Given the description of an element on the screen output the (x, y) to click on. 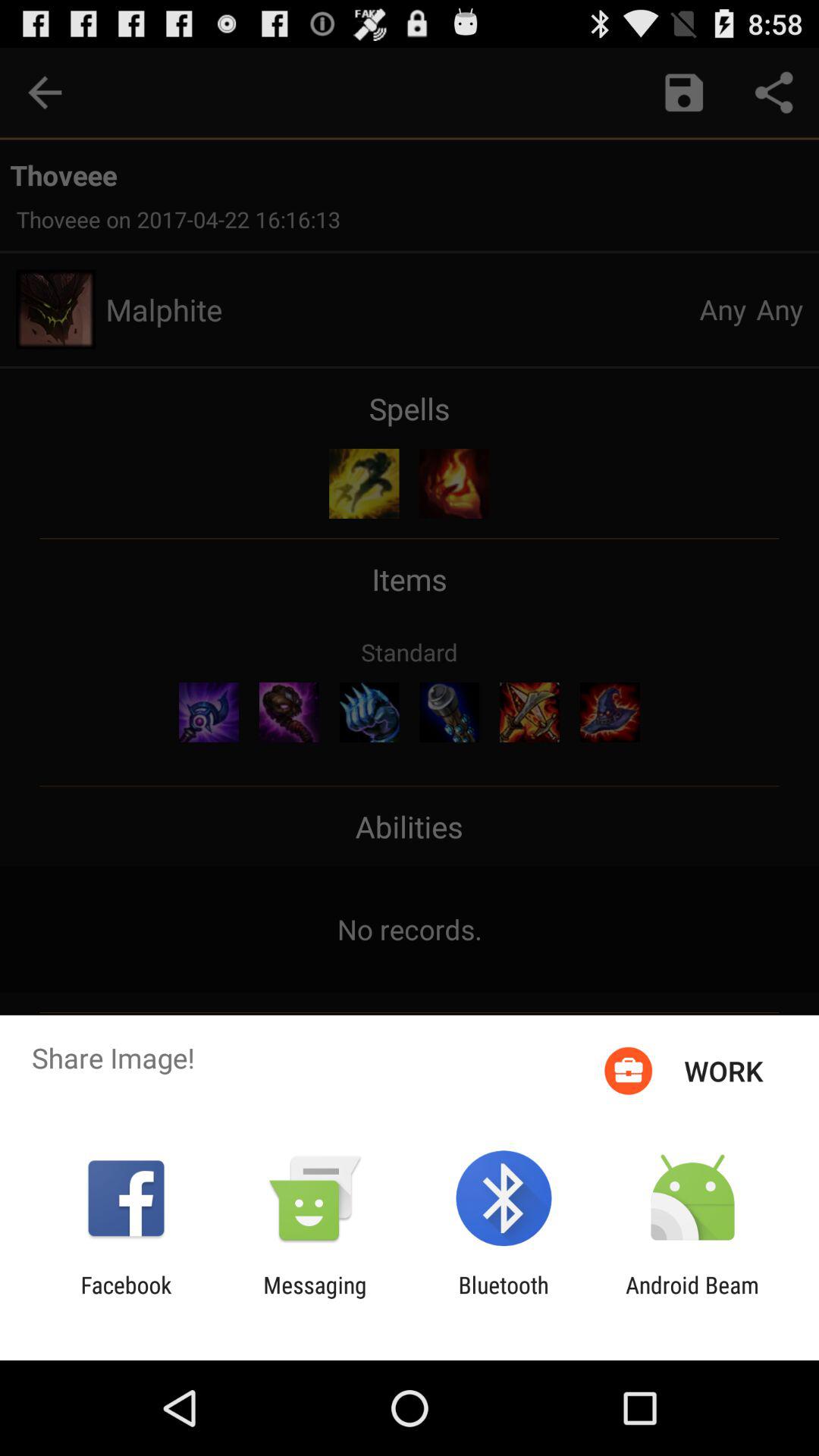
press messaging (314, 1298)
